Given the description of an element on the screen output the (x, y) to click on. 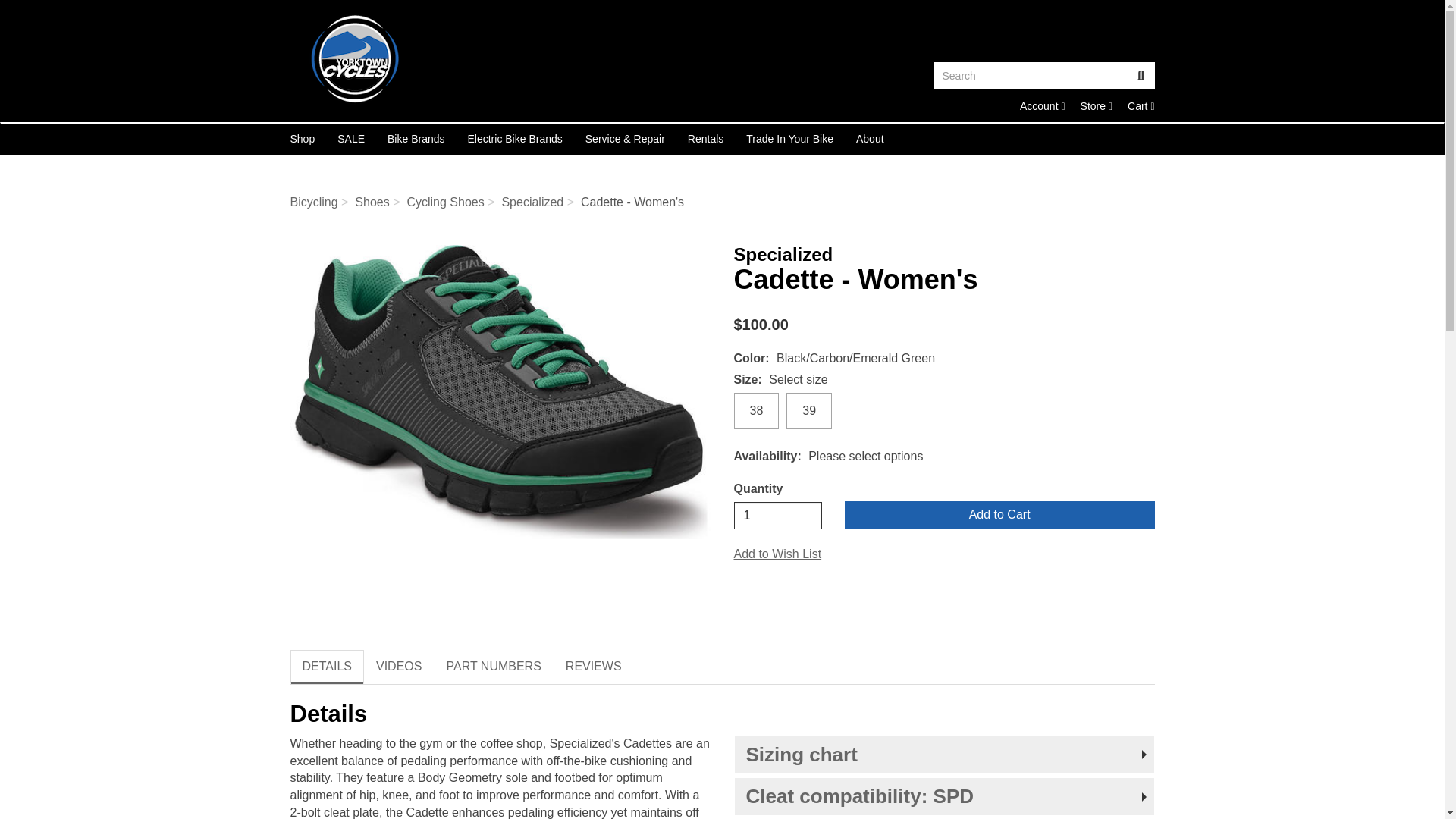
Search (1140, 75)
1 (777, 515)
Account (1096, 105)
Store (1140, 105)
Shop (1042, 105)
Cart (1096, 105)
Search (302, 138)
